Given the description of an element on the screen output the (x, y) to click on. 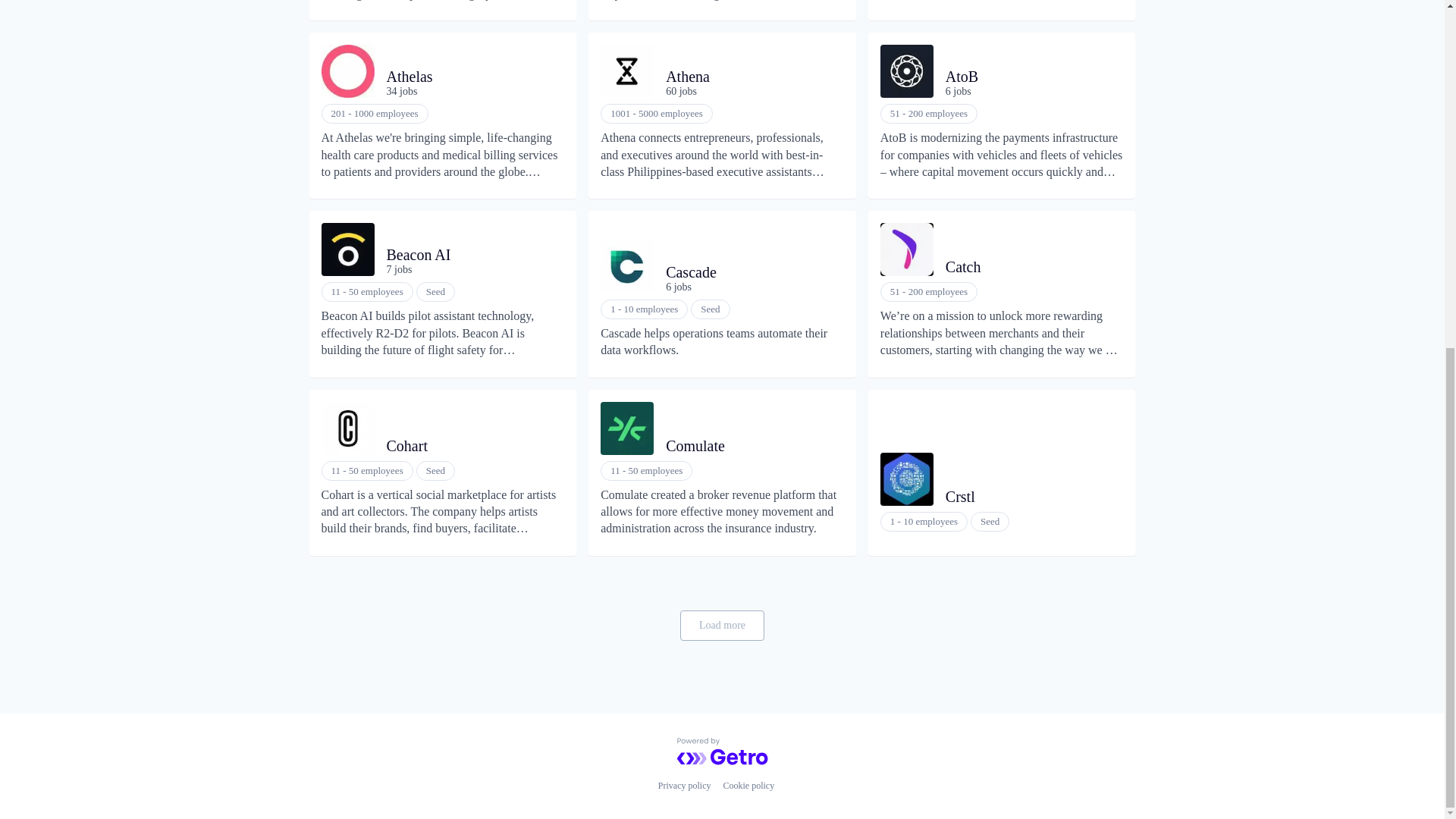
Athena (748, 76)
Athelas (470, 76)
AtoB (1028, 76)
